Given the description of an element on the screen output the (x, y) to click on. 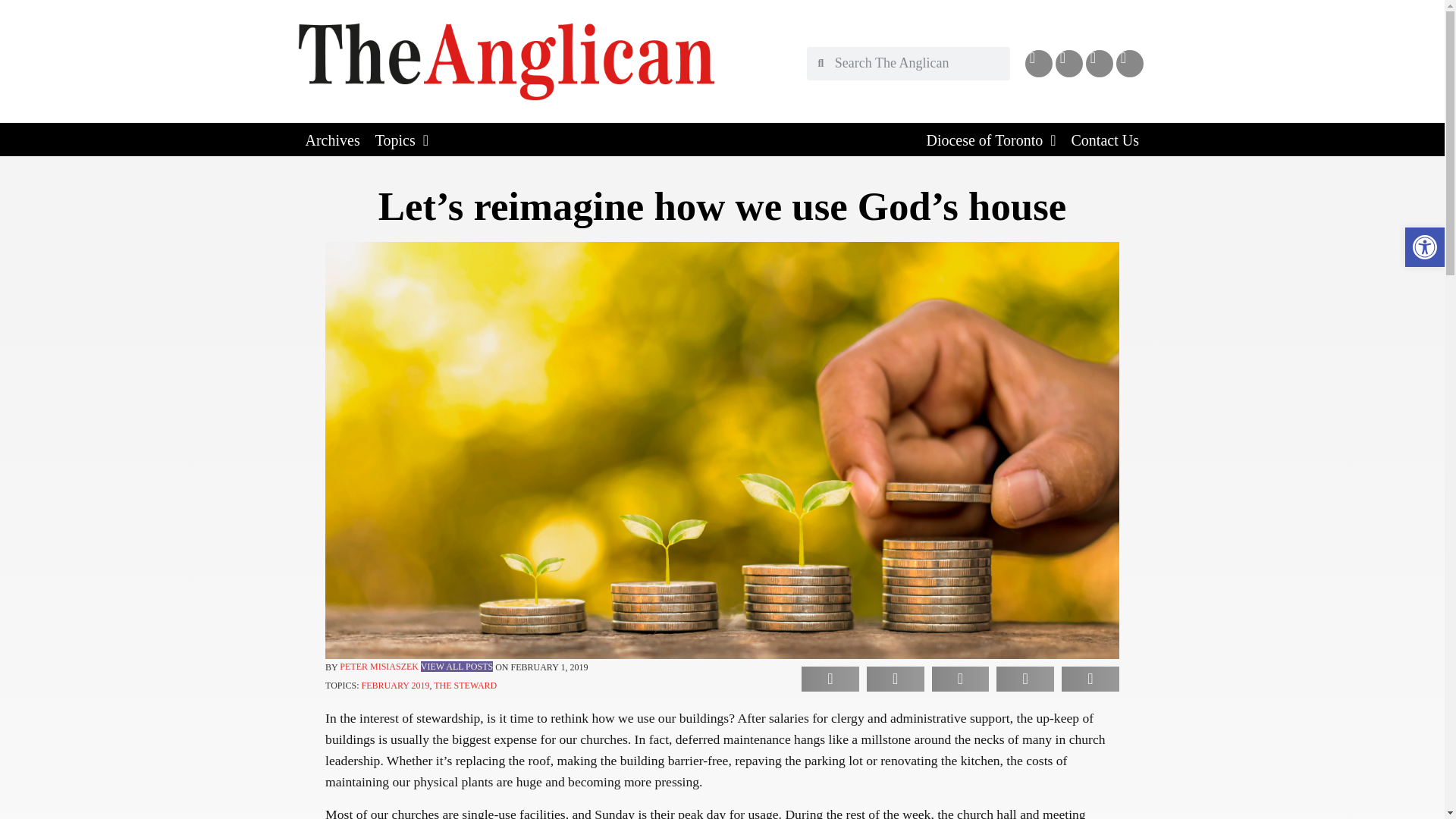
Peter Misiaszek (379, 665)
Topics (401, 140)
Accessibility Tools (1424, 247)
View all posts (456, 665)
Archives (331, 140)
